Given the description of an element on the screen output the (x, y) to click on. 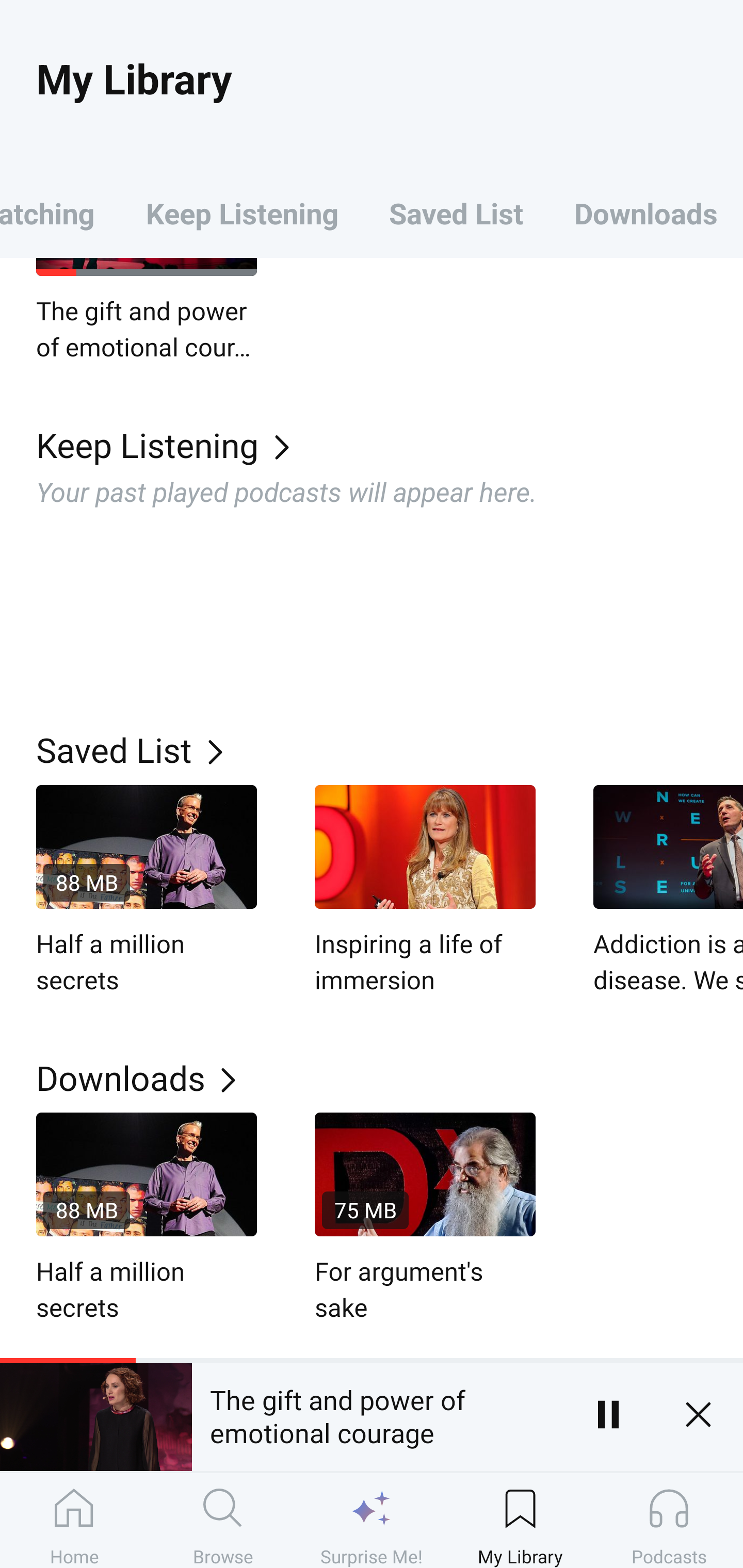
Keep Watching (60, 212)
Keep Listening (242, 212)
Saved List (456, 212)
Downloads (646, 212)
The gift and power of emotional courage (146, 310)
Keep Listening (389, 444)
Saved List (389, 749)
88 MB Half a million secrets (146, 891)
Inspiring a life of immersion (425, 891)
Downloads (389, 1077)
88 MB Half a million secrets (146, 1218)
75 MB For argument's sake (425, 1218)
The gift and power of emotional courage (377, 1413)
Home (74, 1520)
Browse (222, 1520)
Surprise Me! (371, 1520)
My Library (519, 1520)
Podcasts (668, 1520)
